Given the description of an element on the screen output the (x, y) to click on. 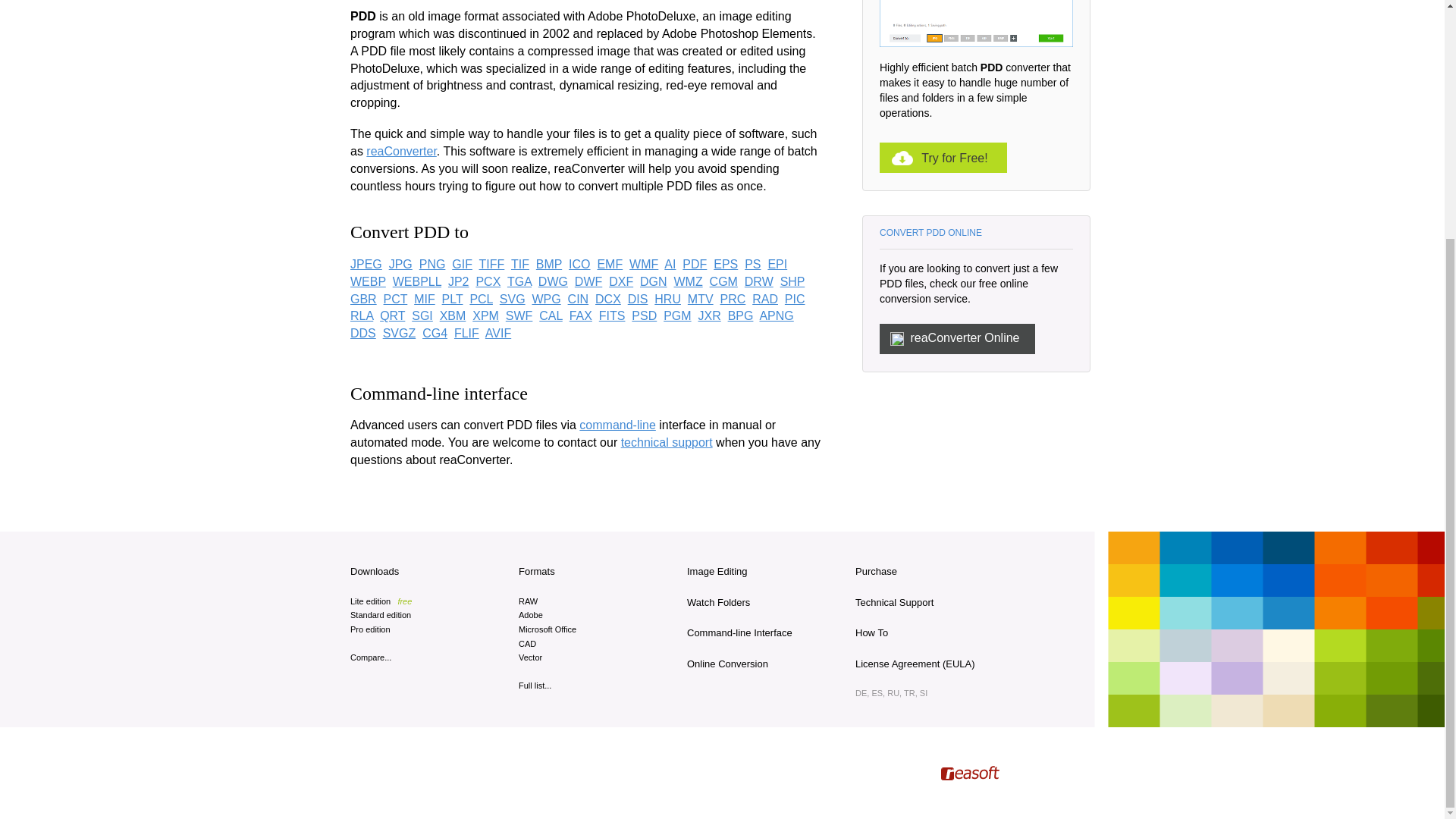
GBR (363, 298)
DWF (588, 281)
ICO (579, 264)
PS (752, 264)
WMF (643, 264)
WEBPLL (417, 281)
WPG (545, 298)
BMP (548, 264)
DRW (758, 281)
CGM (724, 281)
